Given the description of an element on the screen output the (x, y) to click on. 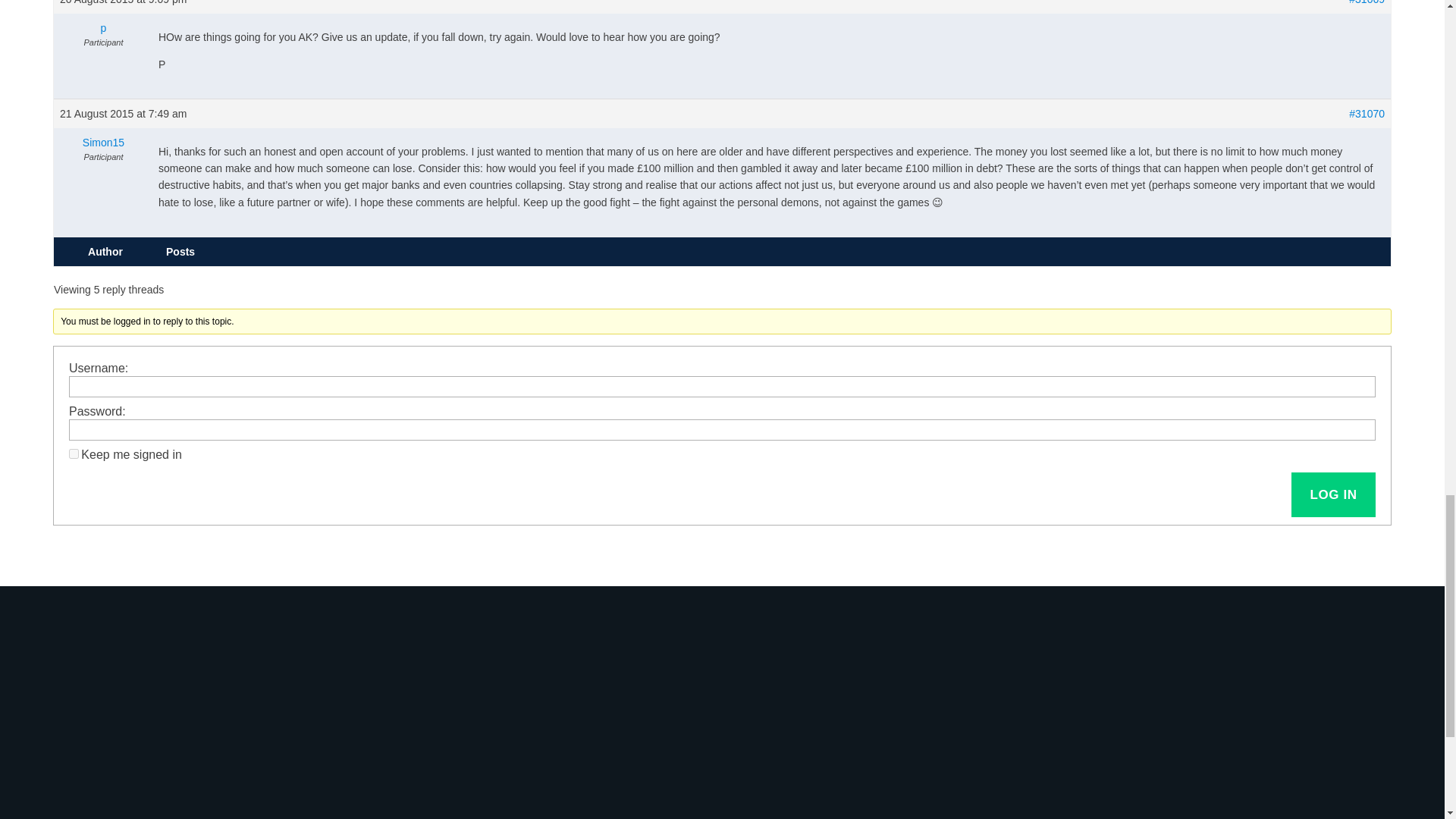
View p's profile (103, 27)
View Simon15's profile (103, 142)
forever (73, 453)
